Given the description of an element on the screen output the (x, y) to click on. 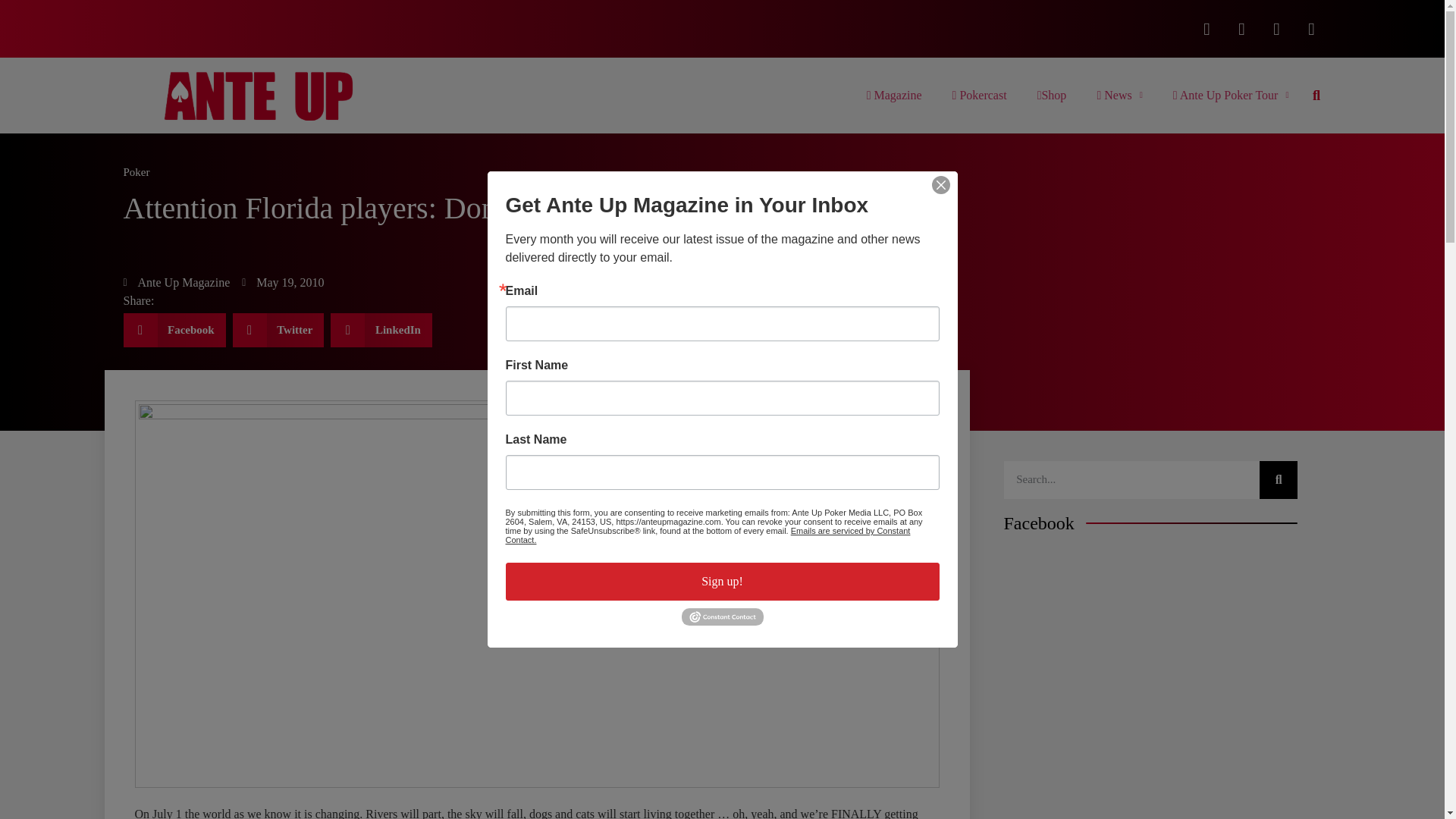
Poker (135, 172)
 News (1119, 95)
 Magazine (894, 95)
 Pokercast (979, 95)
 Ante Up Poker Tour (1230, 95)
Shop (1051, 95)
May 19, 2010 (282, 281)
Ante Up Magazine (176, 281)
Close (940, 185)
